Given the description of an element on the screen output the (x, y) to click on. 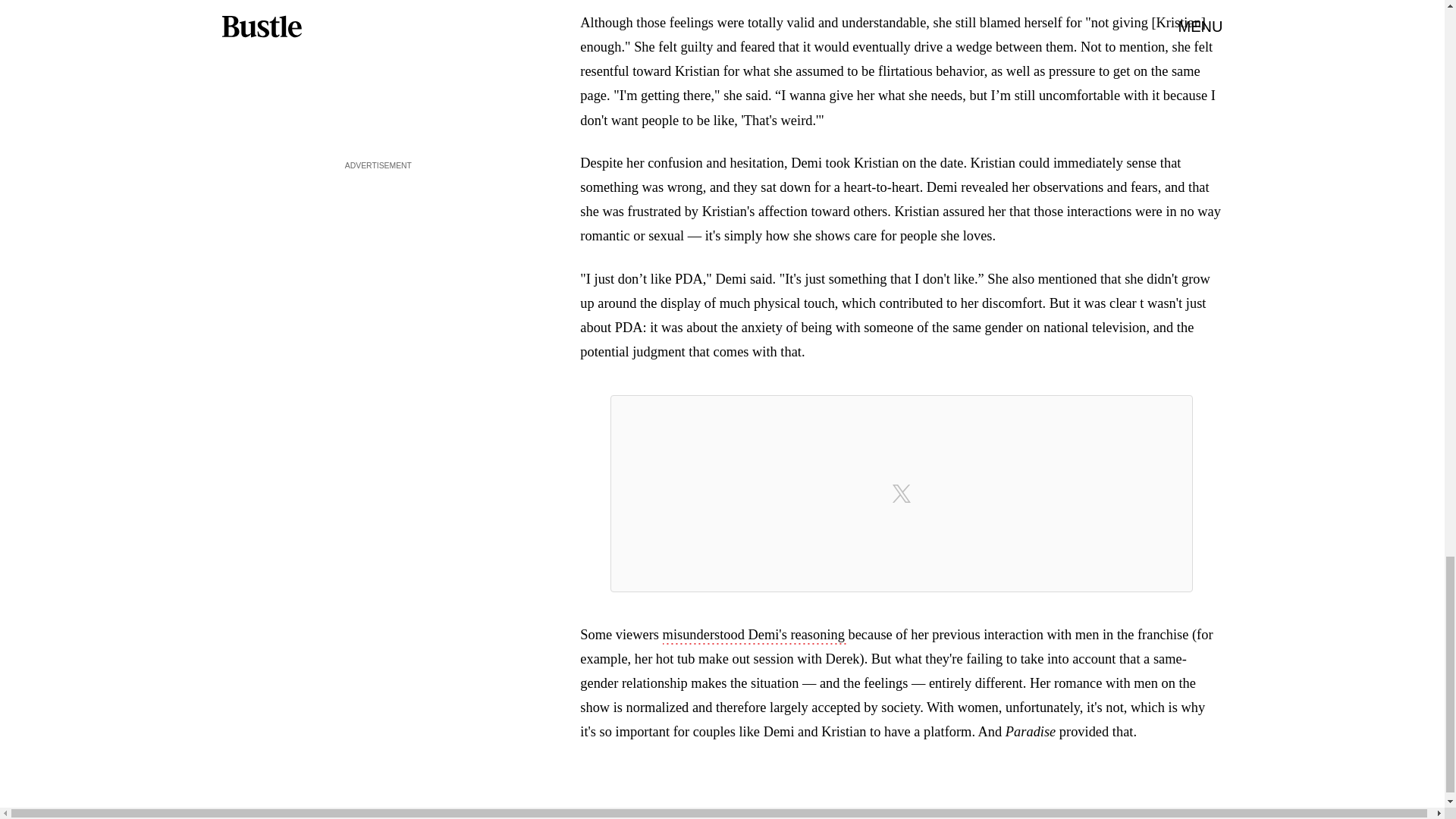
misunderstood Demi's reasoning (755, 636)
